Given the description of an element on the screen output the (x, y) to click on. 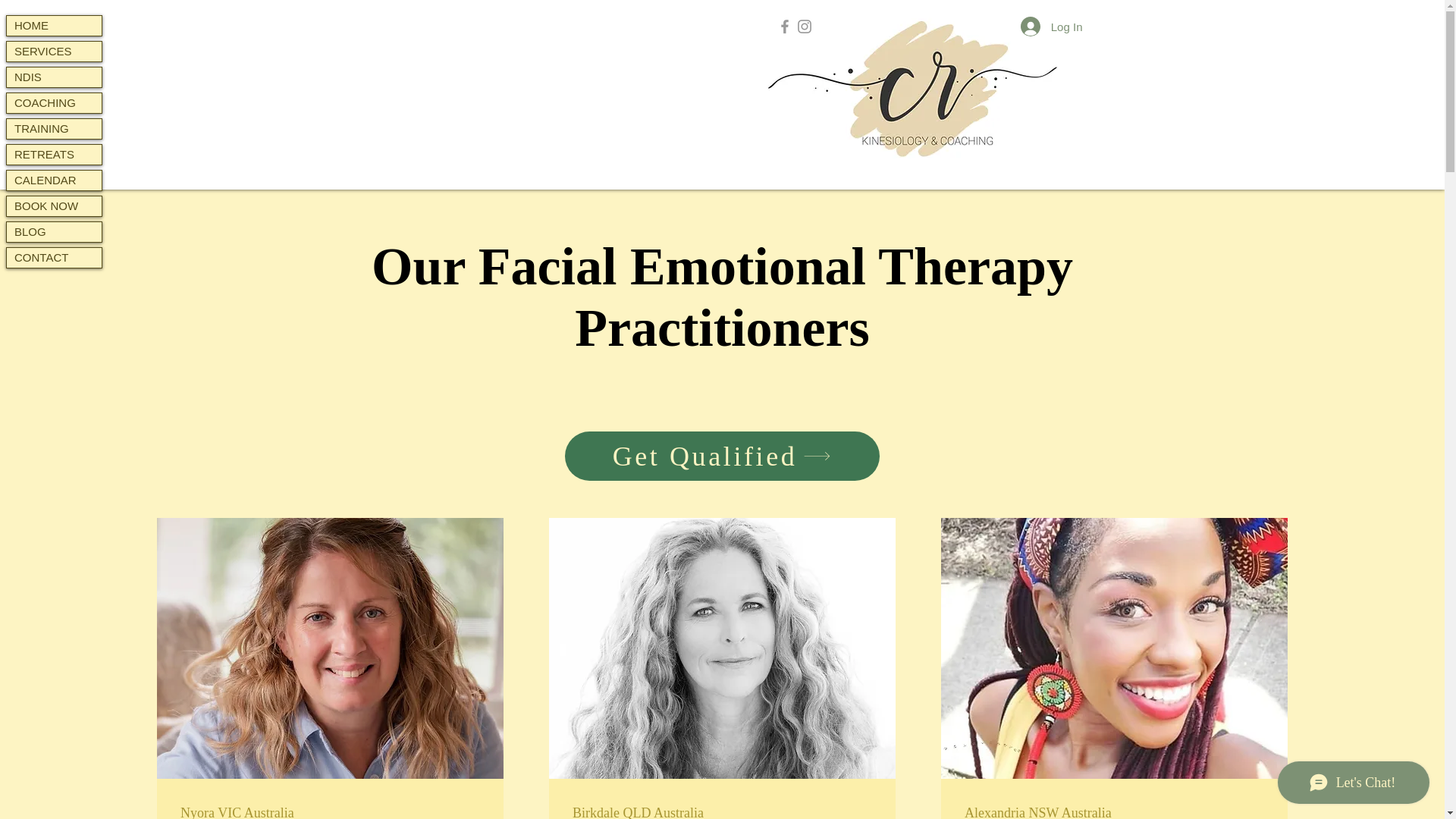
CALENDAR (54, 180)
BLOG (54, 231)
HOME (54, 25)
Get Qualified (721, 455)
BOOK NOW (54, 206)
RETREATS (54, 154)
CONTACT (54, 257)
Log In (1051, 26)
NDIS (54, 76)
SERVICES (54, 51)
